Given the description of an element on the screen output the (x, y) to click on. 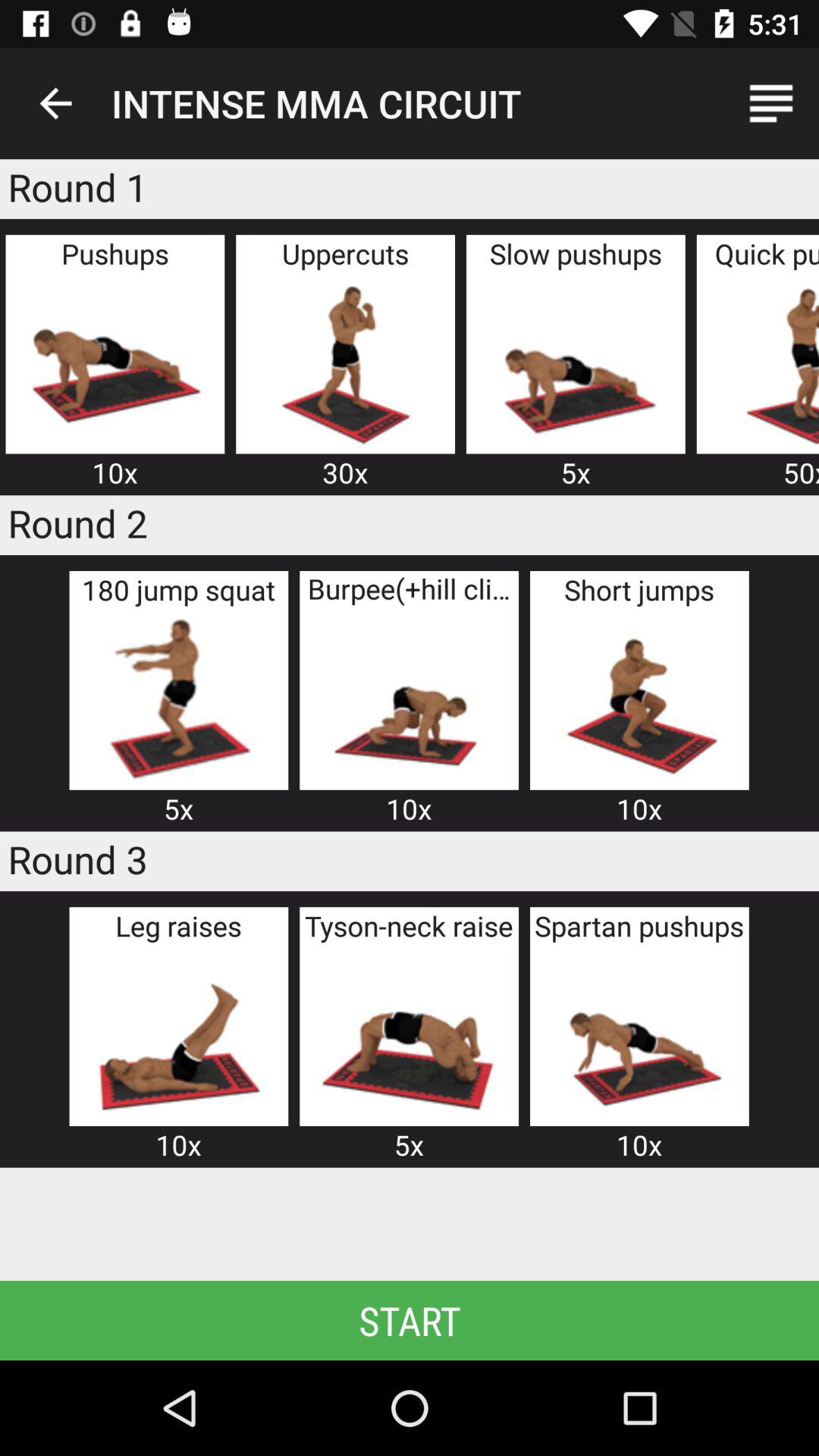
choose icon to the right of the leg raises app (408, 1034)
